Given the description of an element on the screen output the (x, y) to click on. 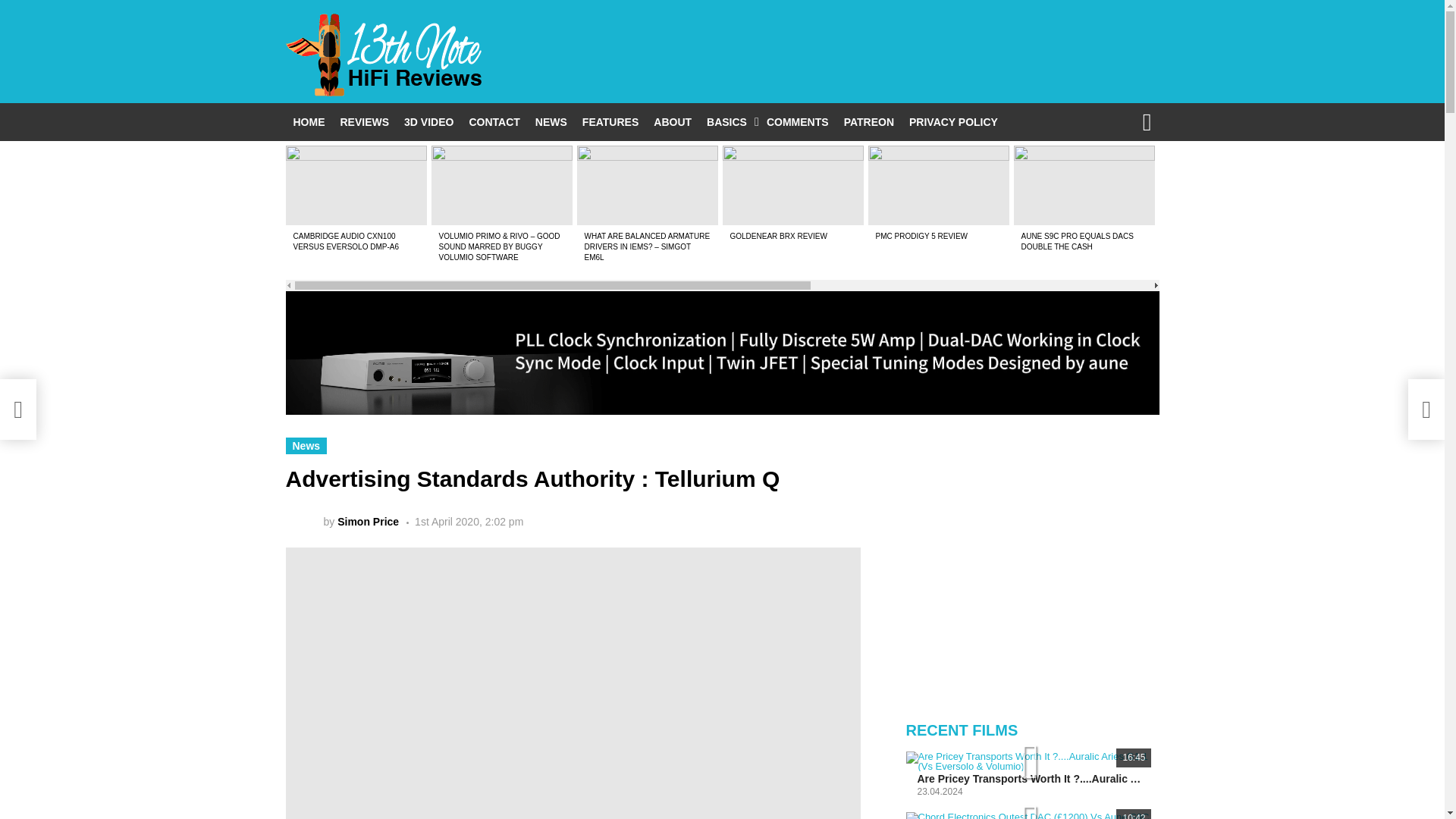
CAMBRIDGE AUDIO CXN100 VERSUS EVERSOLO DMP-A6 (344, 240)
HOME (308, 121)
NEWS (551, 121)
CHOCO SOUND EMEI INTEGRATED AMP REVIEW (1215, 240)
FEATURES (610, 121)
Posts by Simon Price (367, 521)
BASICS (728, 121)
ABOUT (672, 121)
Cambridge Audio CXN100 Versus Eversolo DMP-A6 (355, 185)
GoldenEar BRX Review (792, 185)
PMC PRODIGY 5 REVIEW (921, 235)
AUNE S9C PRO EQUALS DACS DOUBLE THE CASH (1076, 240)
PATREON (868, 121)
GOLDENEAR BRX REVIEW (778, 235)
PMC Prodigy 5 Review (938, 185)
